Given the description of an element on the screen output the (x, y) to click on. 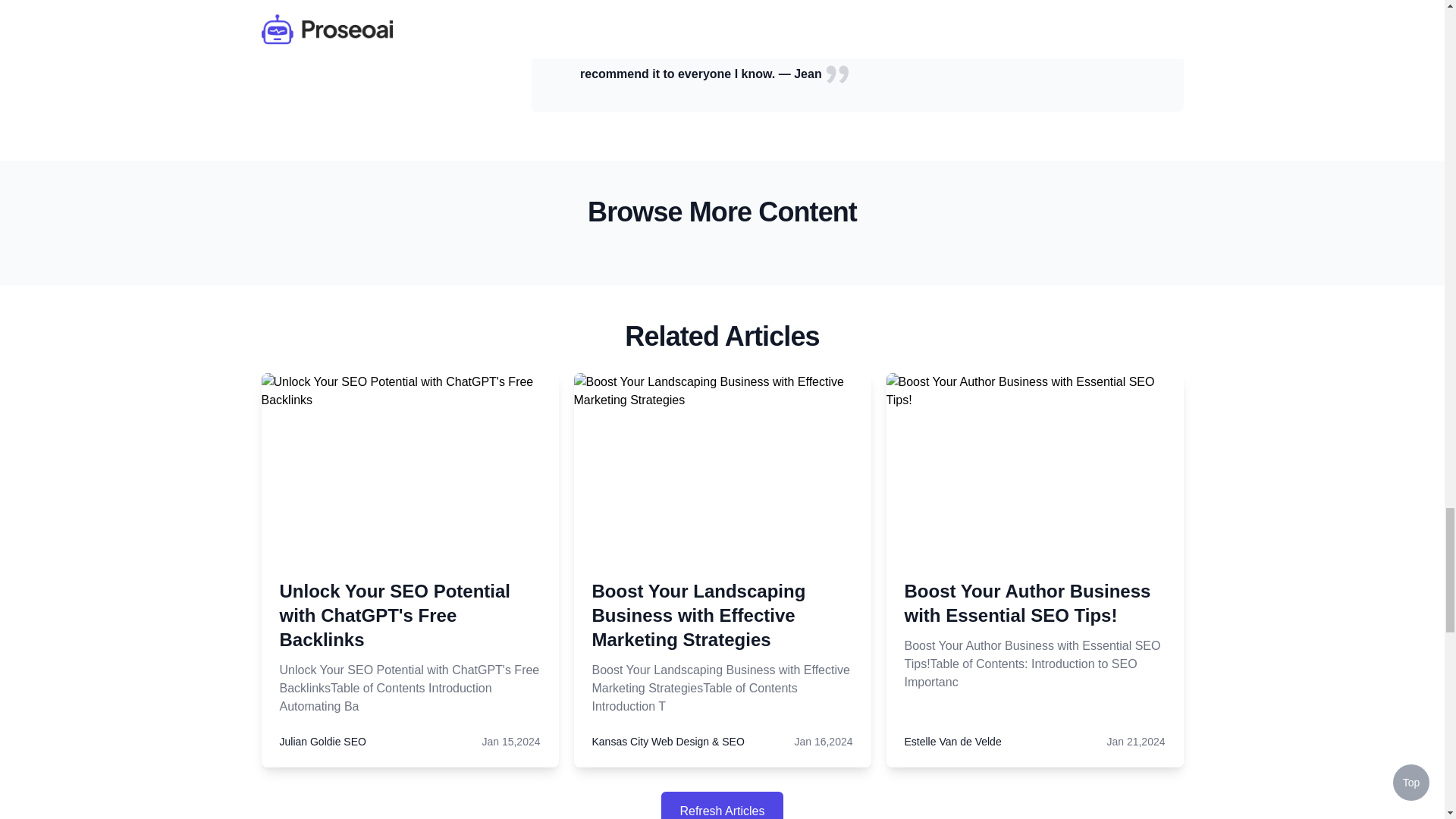
Estelle Van de Velde (952, 741)
Julian Goldie SEO (322, 741)
